Given the description of an element on the screen output the (x, y) to click on. 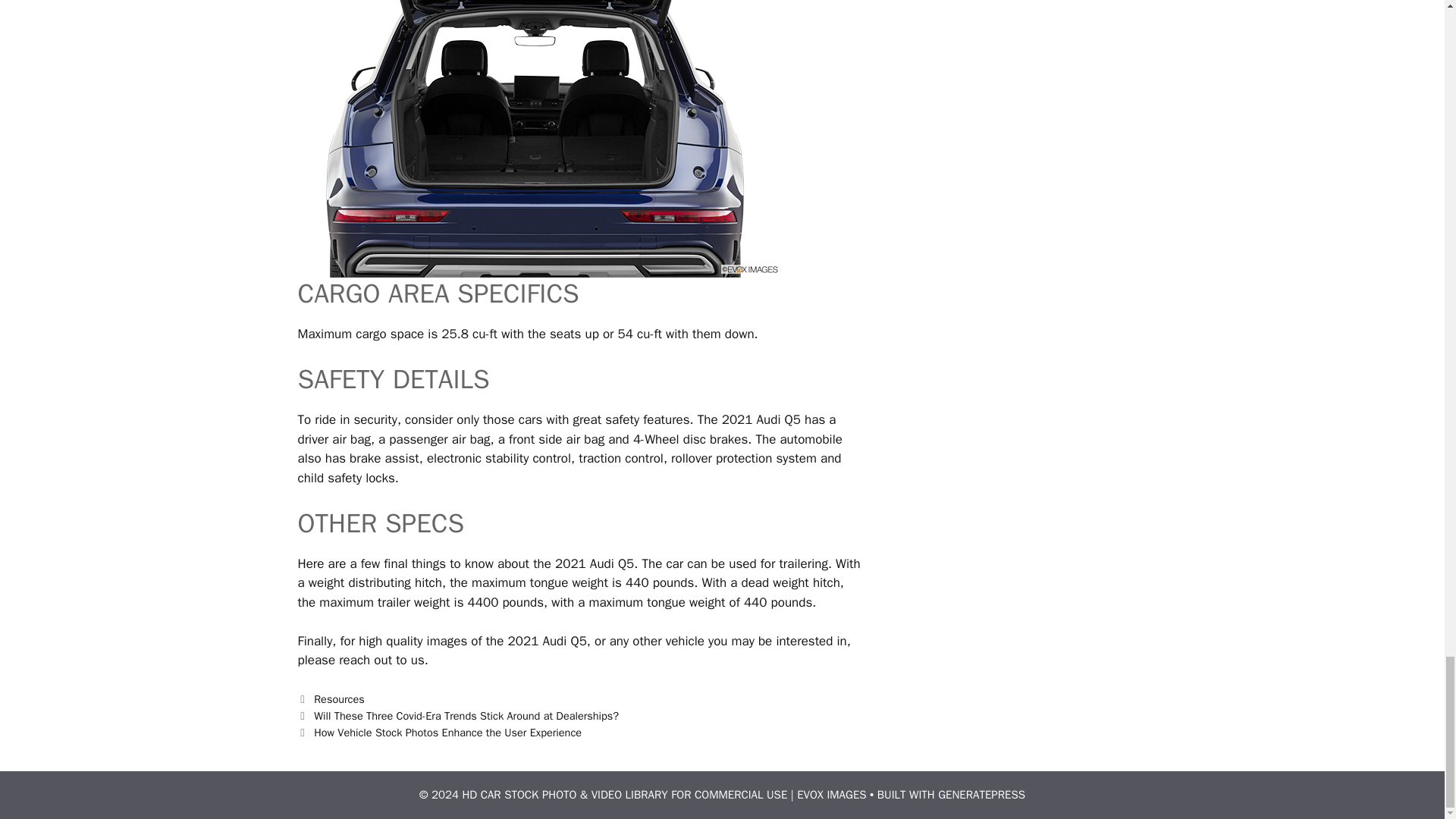
Resources (339, 698)
GENERATEPRESS (981, 794)
How Vehicle Stock Photos Enhance the User Experience (447, 732)
